Given the description of an element on the screen output the (x, y) to click on. 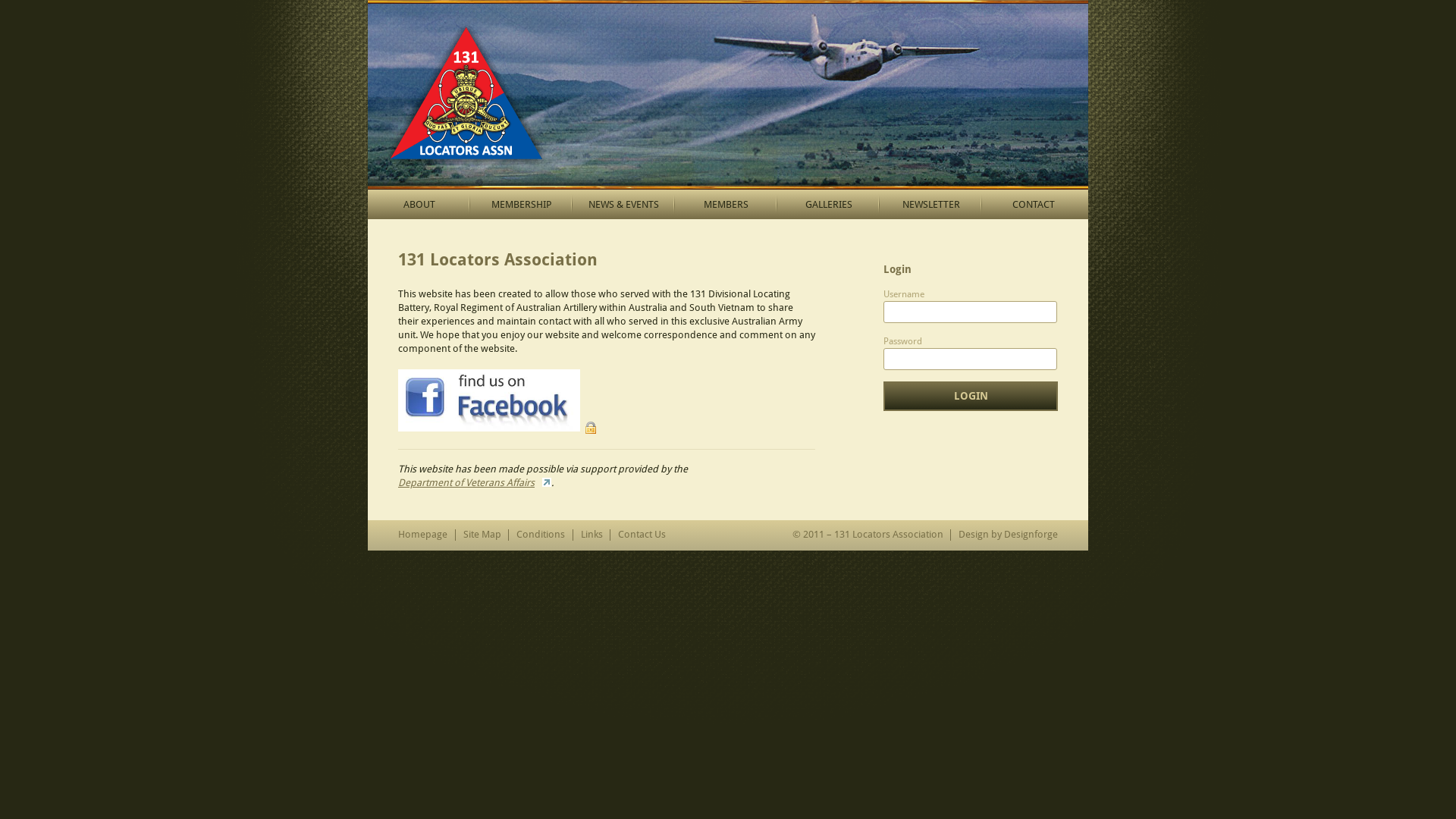
Design by Designforge Element type: text (1007, 533)
Return to Homepage Element type: hover (727, 94)
Department of Veterans Affairs Element type: text (474, 481)
Links Element type: text (591, 533)
LOGIN Element type: text (970, 395)
Site Map Element type: text (481, 533)
Homepage Element type: text (422, 533)
Contact Us Element type: text (641, 533)
Conditions Element type: text (540, 533)
